Given the description of an element on the screen output the (x, y) to click on. 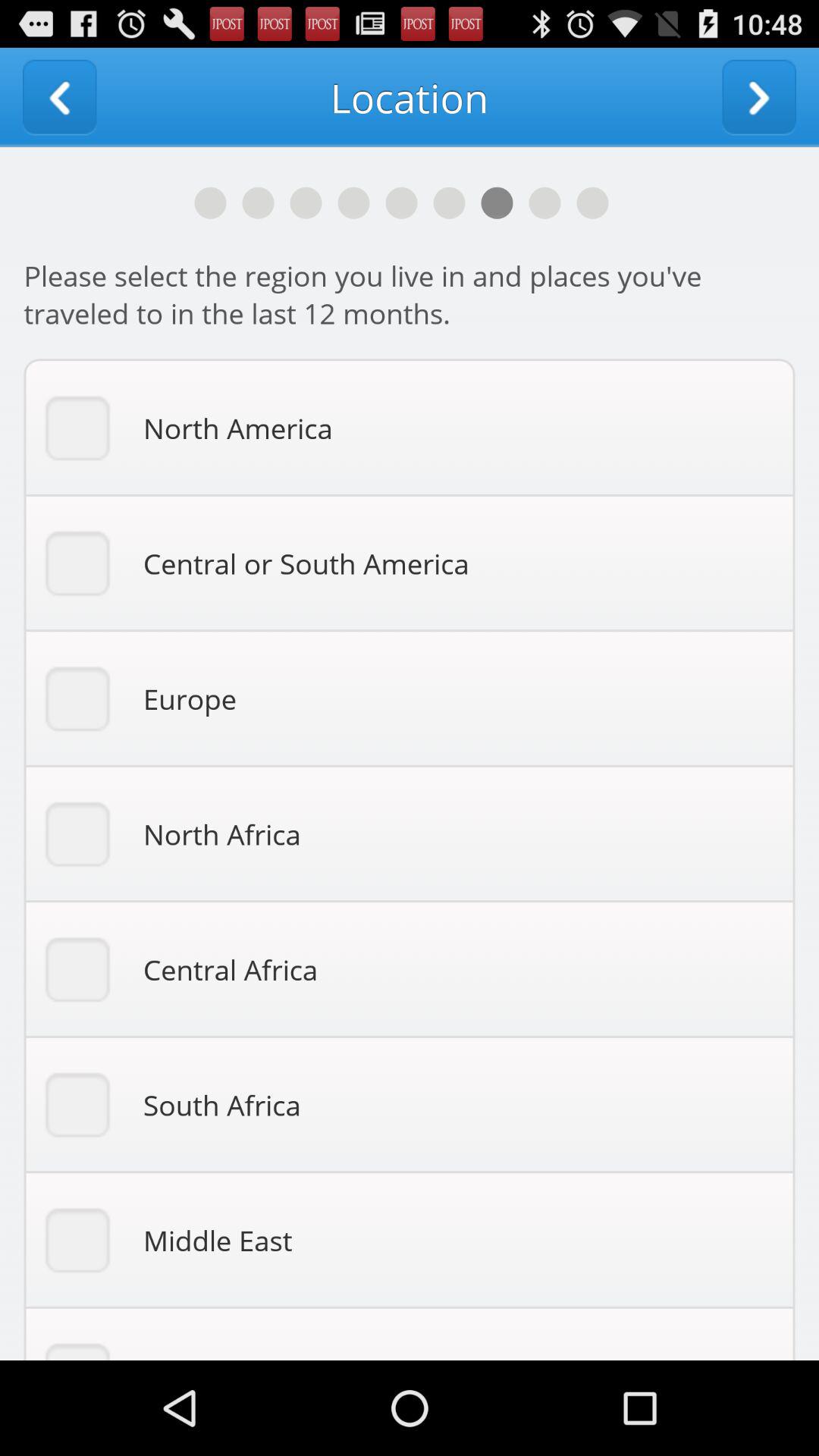
go to previous (59, 97)
